Given the description of an element on the screen output the (x, y) to click on. 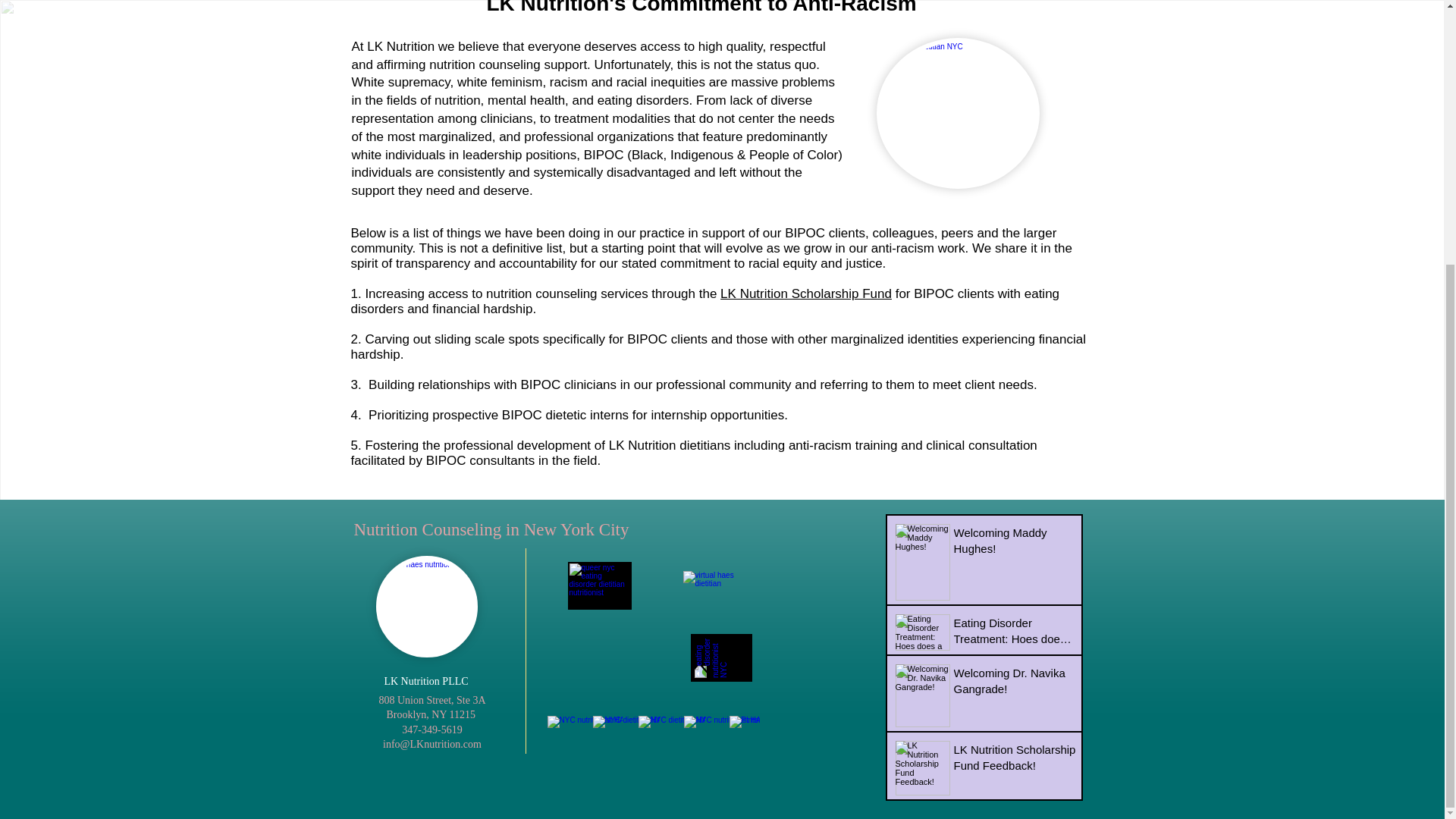
LK Nutrition Scholarship Fund (805, 293)
LK Nutrition Scholarship Fund Feedback! (1015, 760)
Welcoming Dr. Navika Gangrade! (1015, 683)
Welcoming Maddy Hughes! (1015, 543)
